Given the description of an element on the screen output the (x, y) to click on. 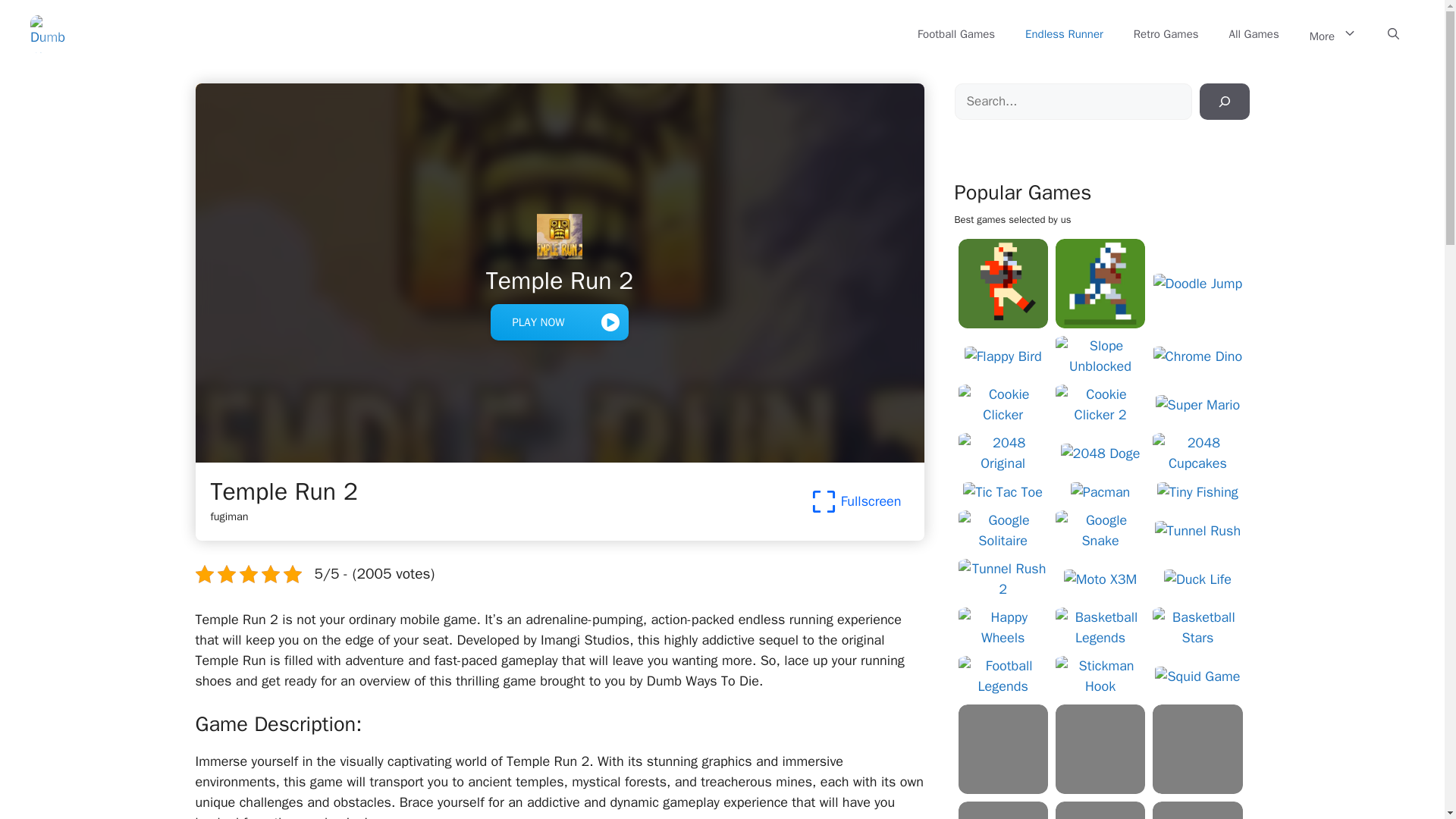
Retro Games (1166, 33)
Endless Runner (1064, 33)
PLAY NOW (558, 321)
All Games (1254, 33)
Football Games (956, 33)
Fullscreen (855, 501)
Temple Run 2 1 (558, 236)
More (1333, 33)
